Given the description of an element on the screen output the (x, y) to click on. 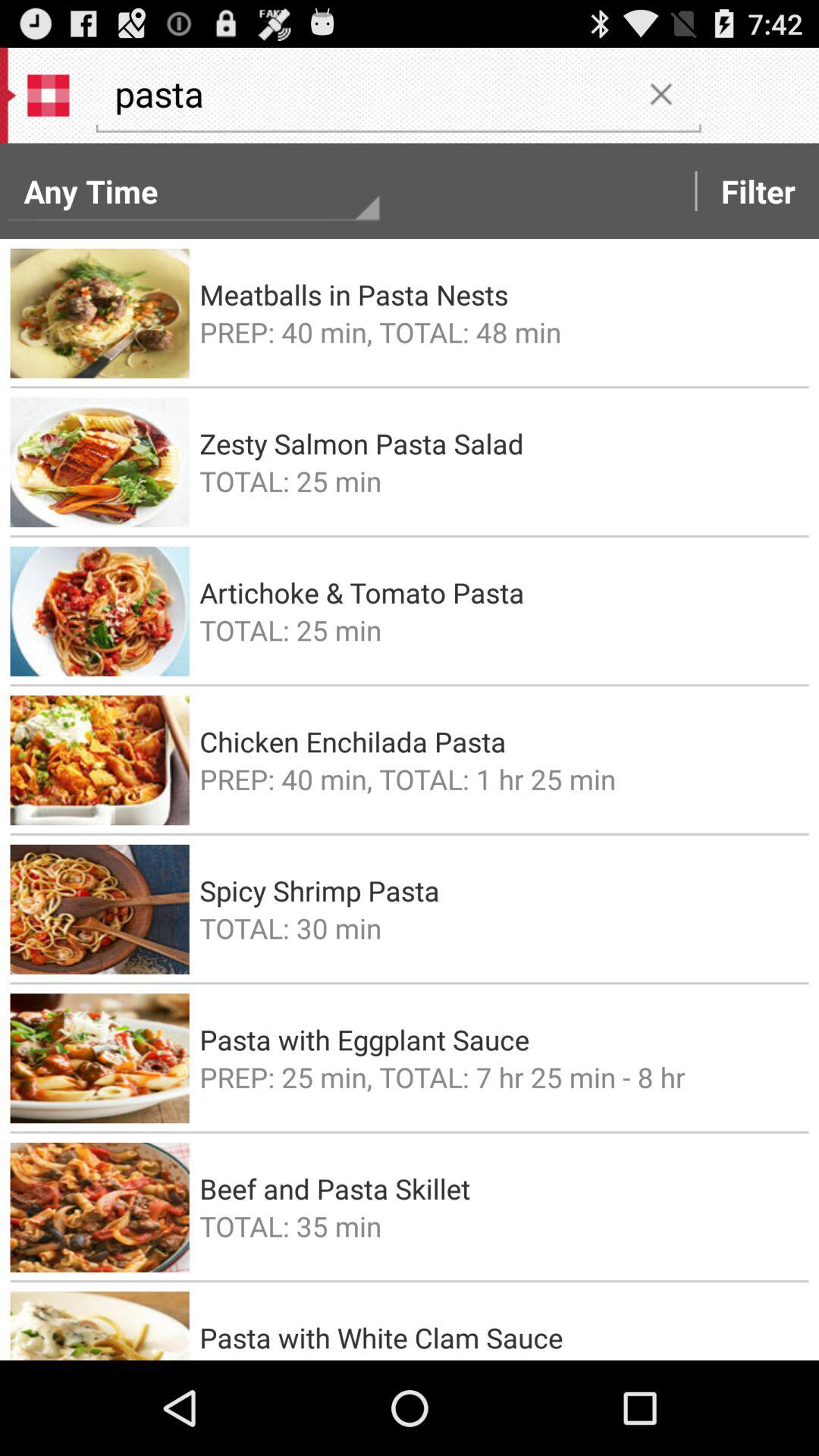
select app above the prep 40 min item (498, 294)
